Given the description of an element on the screen output the (x, y) to click on. 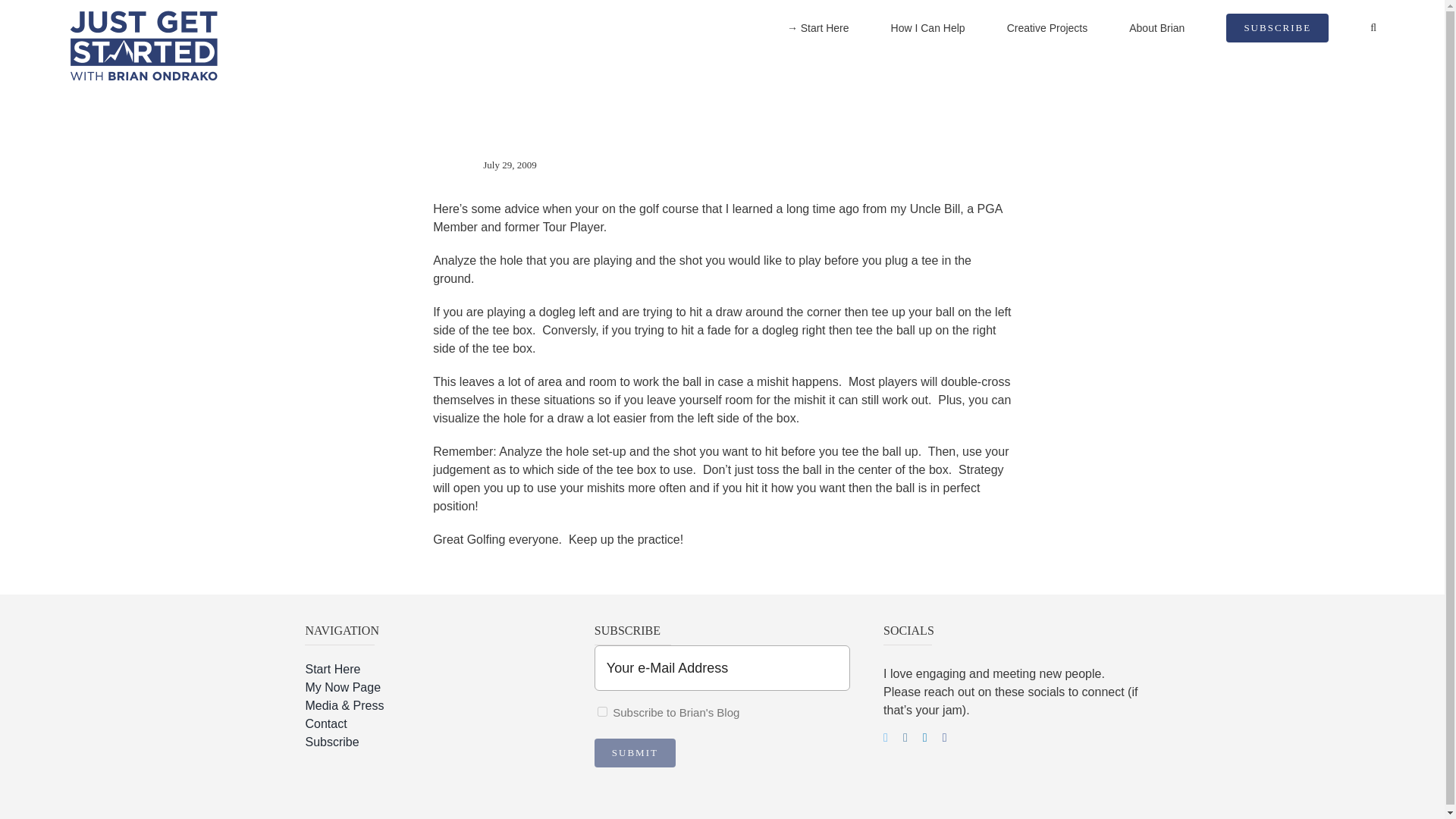
SUBSCRIBE (1276, 28)
Creative Projects (1047, 28)
Start Here (432, 669)
How I Can Help (928, 28)
About Brian (1157, 28)
Subscribe to Brian's Blog (601, 711)
Submit (634, 752)
